Given the description of an element on the screen output the (x, y) to click on. 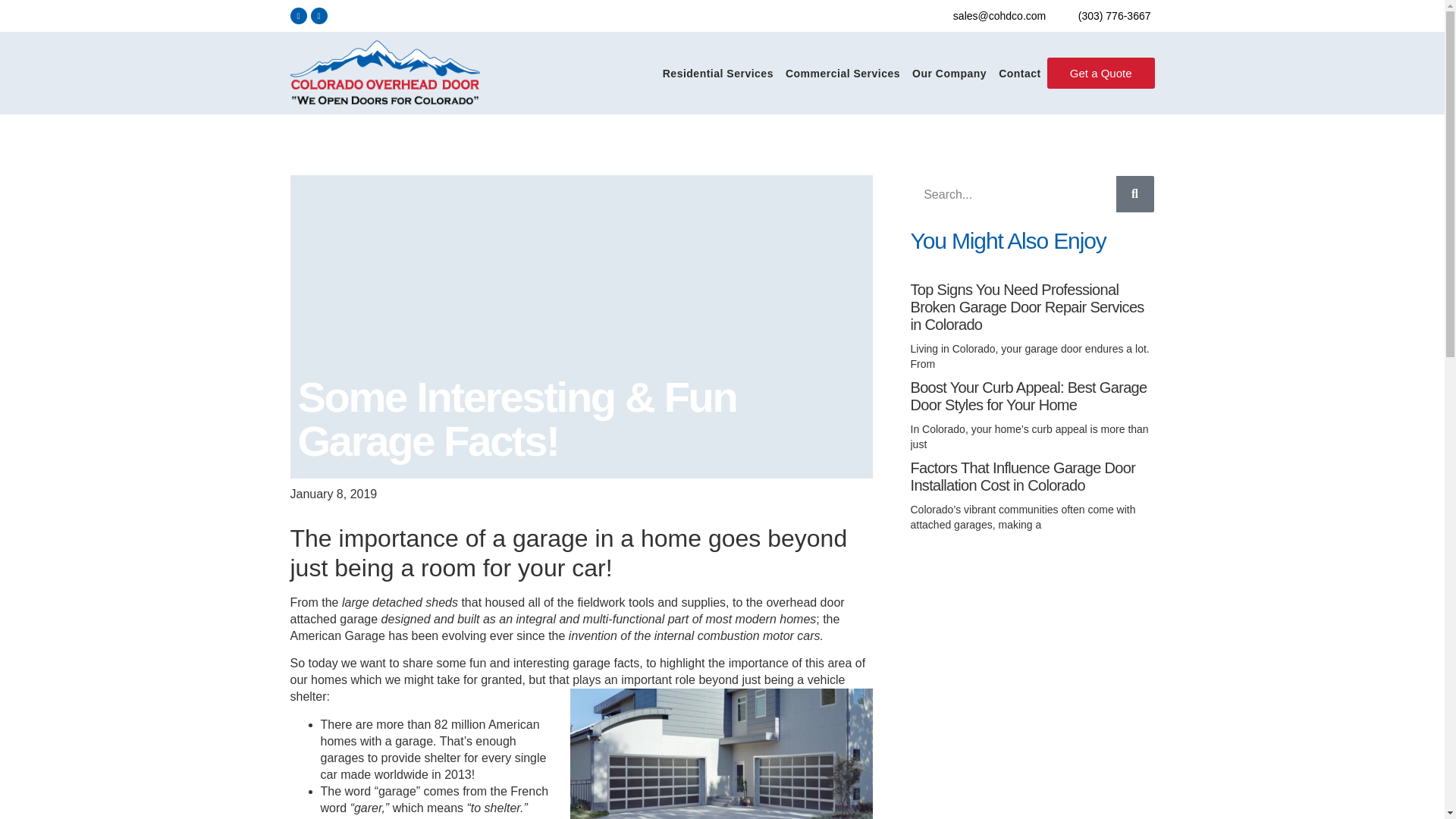
Residential Services (717, 73)
Our Company (948, 73)
Commercial Services (841, 73)
Contact (1019, 73)
Get a Quote (1100, 72)
